Given the description of an element on the screen output the (x, y) to click on. 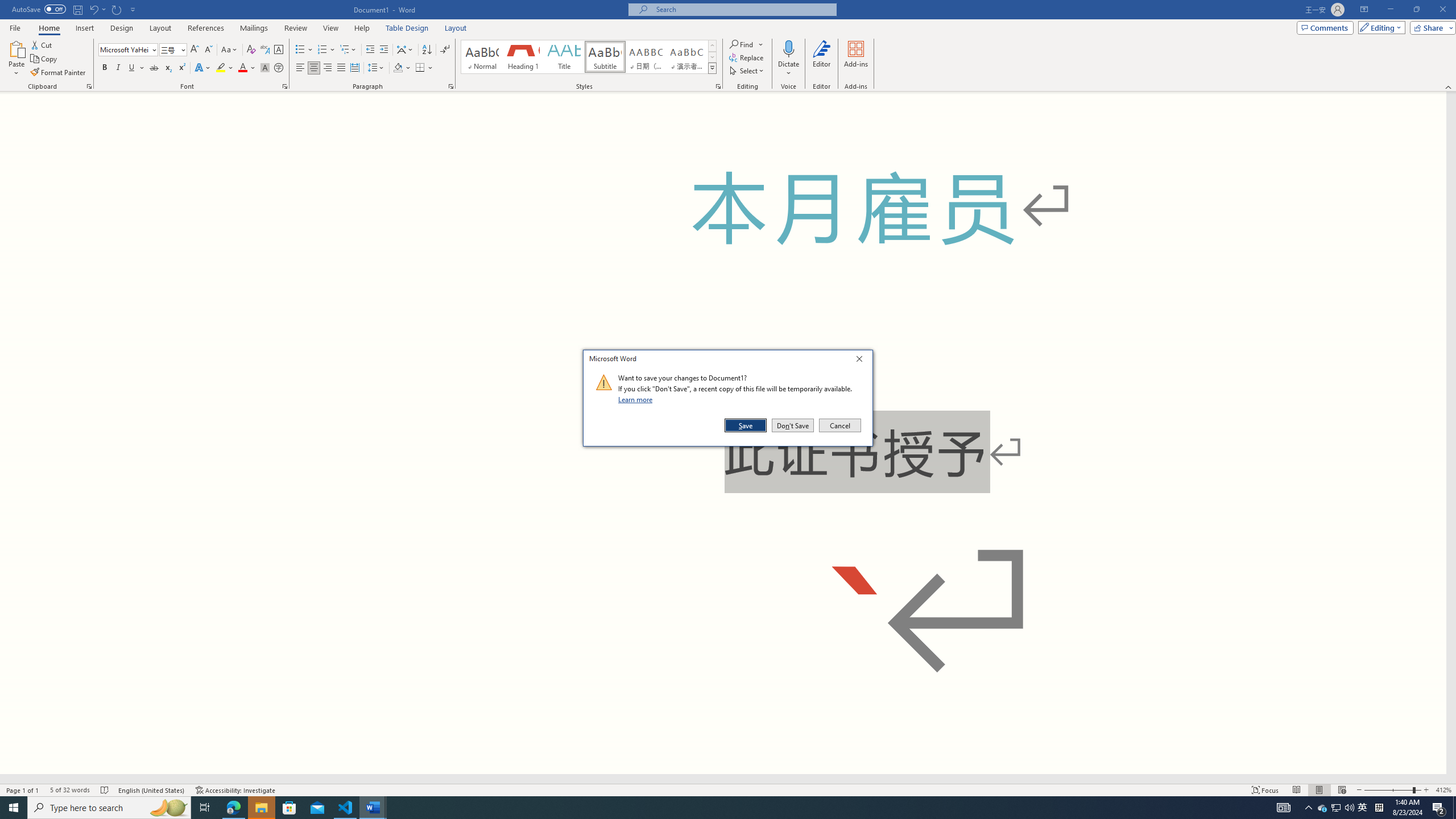
Enclose Characters... (278, 67)
Undo Grow Font (92, 9)
Heading 1 (522, 56)
Align Left (300, 67)
Class: NetUIScrollBar (722, 778)
Zoom (1335, 807)
Copy (1392, 790)
